Given the description of an element on the screen output the (x, y) to click on. 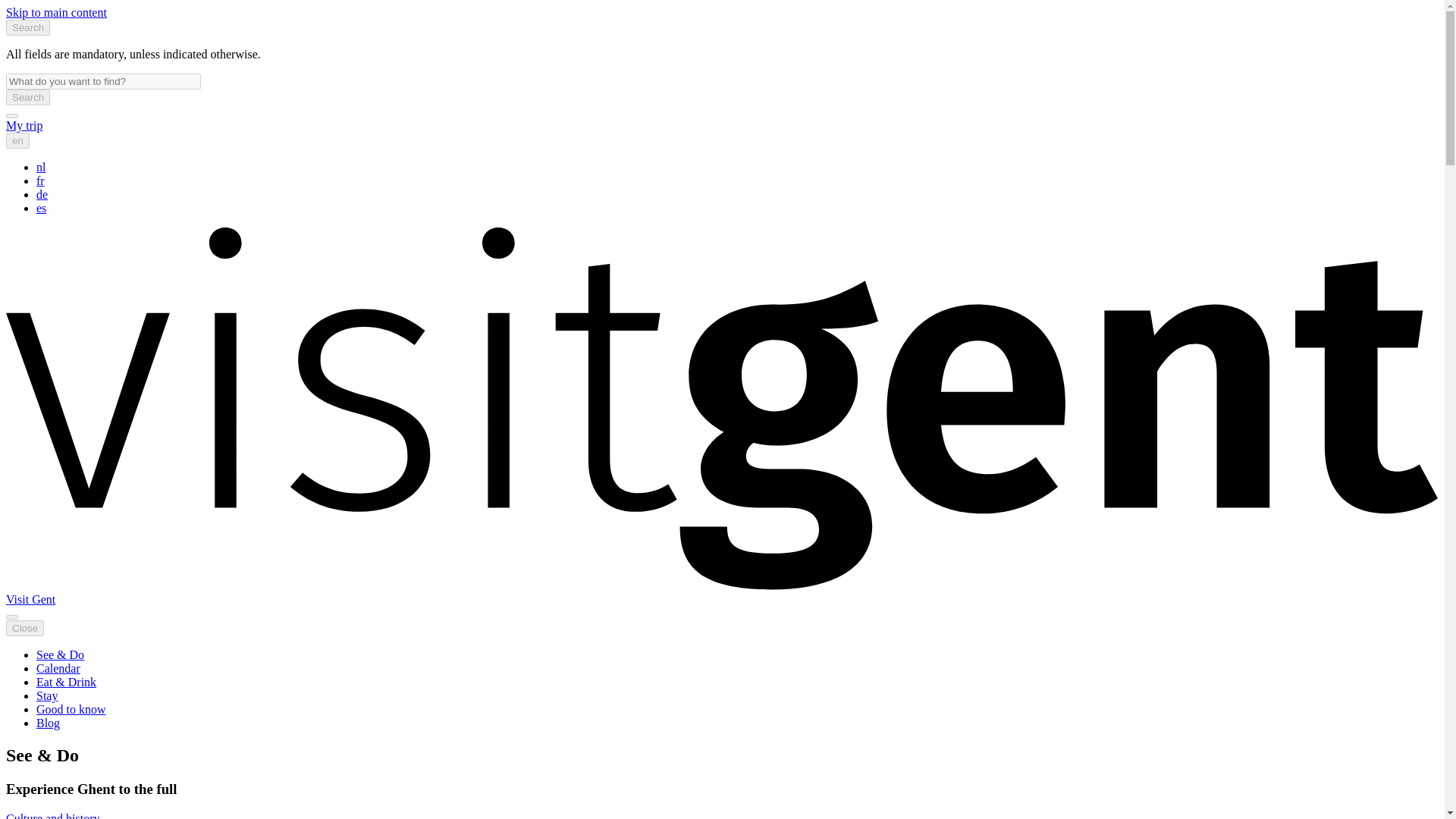
Good to know (71, 708)
Close (24, 627)
Menu (11, 617)
Culture and history (52, 815)
Visit Gent (30, 599)
Skip to main content (55, 11)
Close (24, 627)
Stay (47, 695)
Search (27, 97)
Home (30, 599)
My trip (23, 124)
Search (27, 27)
en (17, 140)
Blog (47, 722)
Search (27, 97)
